Given the description of an element on the screen output the (x, y) to click on. 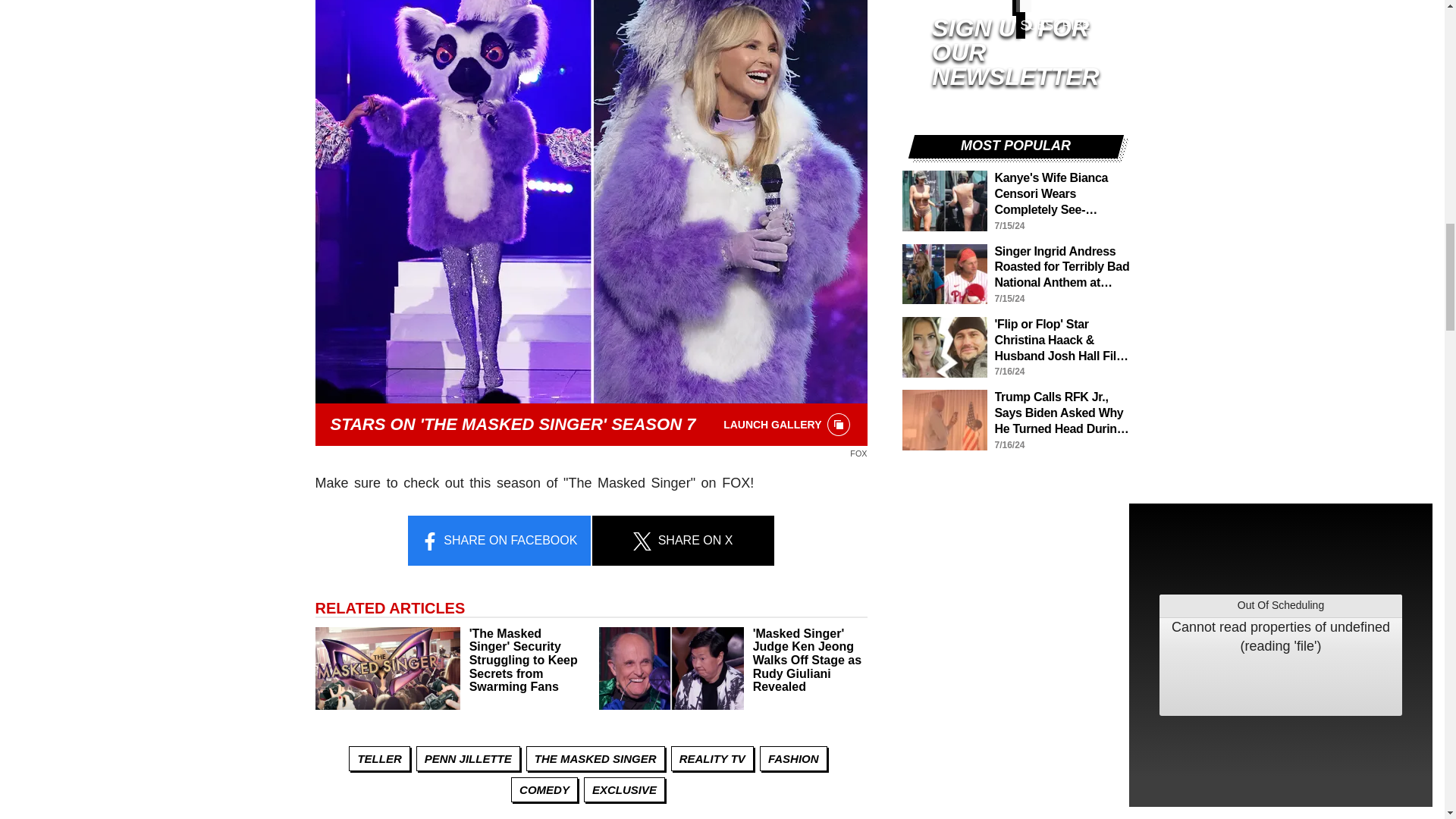
GALLERY (838, 424)
